Given the description of an element on the screen output the (x, y) to click on. 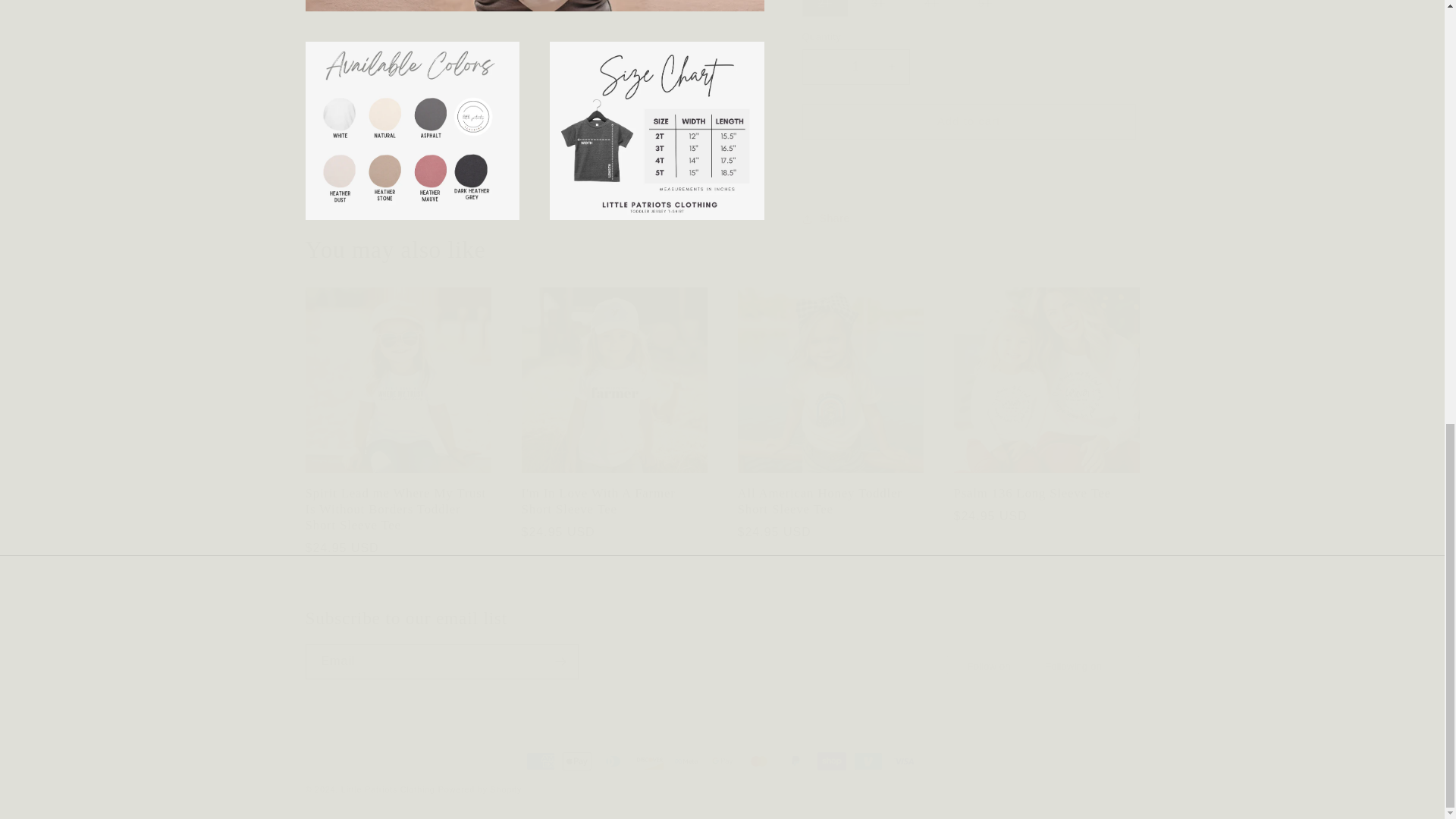
1 (856, 55)
Add to cart (968, 109)
